Given the description of an element on the screen output the (x, y) to click on. 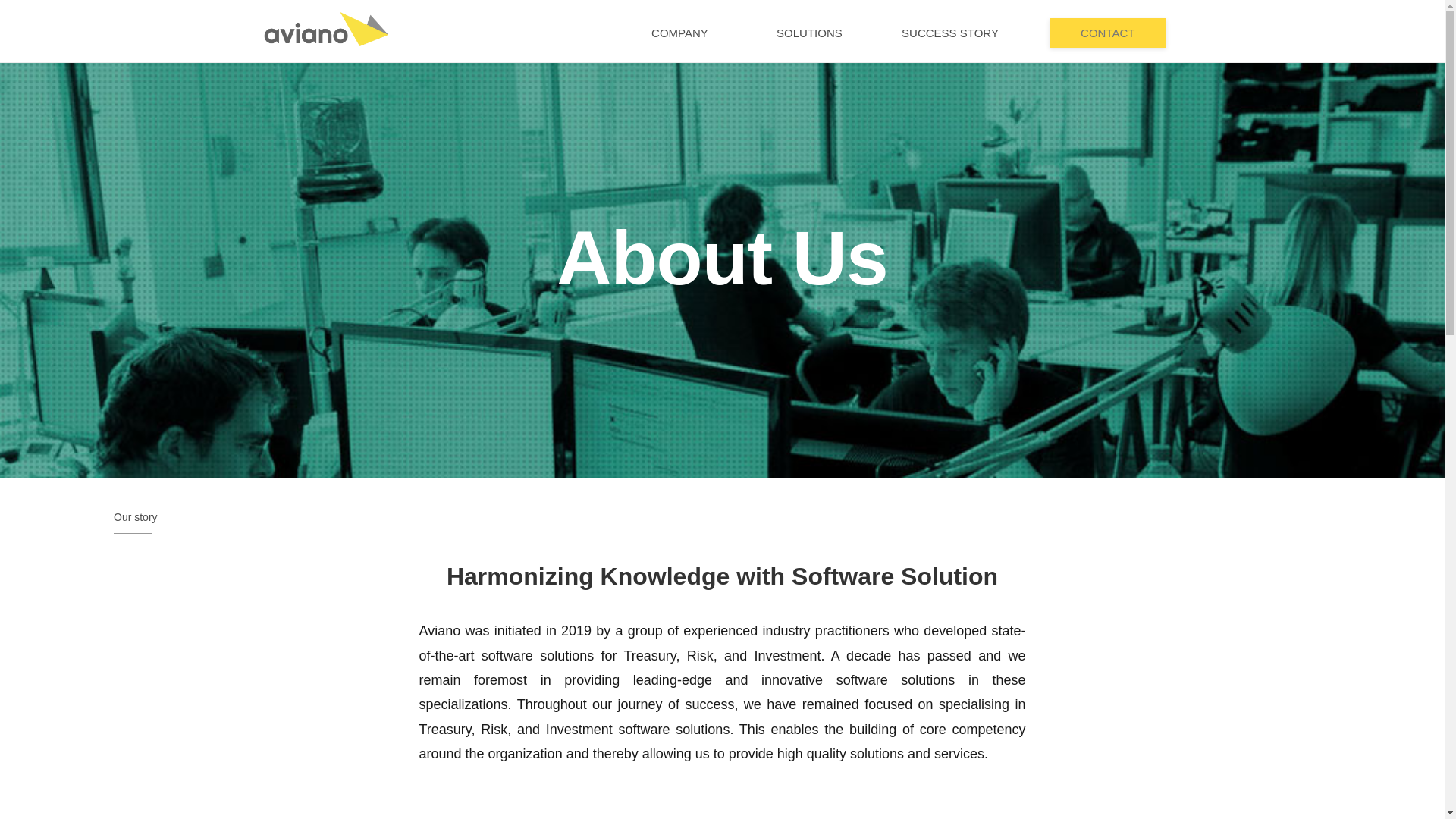
CONTACT Element type: text (1107, 32)
SOLUTIONS Element type: text (809, 32)
COMPANY Element type: text (679, 32)
SUCCESS STORY Element type: text (949, 32)
